Given the description of an element on the screen output the (x, y) to click on. 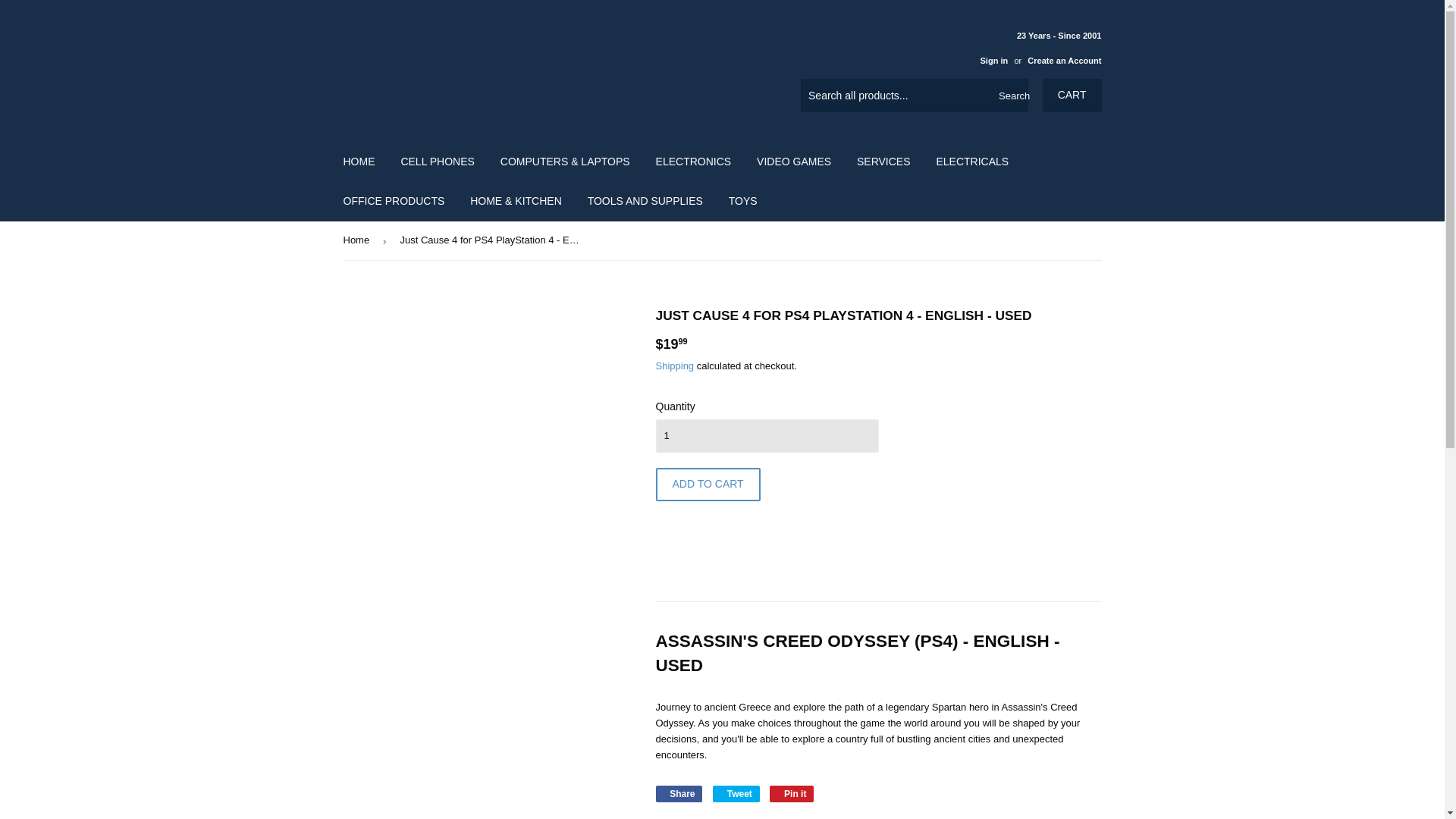
Share on Facebook (678, 793)
CART (1072, 95)
Create an Account (1063, 60)
Pin on Pinterest (791, 793)
Sign in (993, 60)
Tweet on Twitter (736, 793)
23 Years - Since 2001 (1034, 47)
1 (766, 435)
Search (1010, 96)
